Given the description of an element on the screen output the (x, y) to click on. 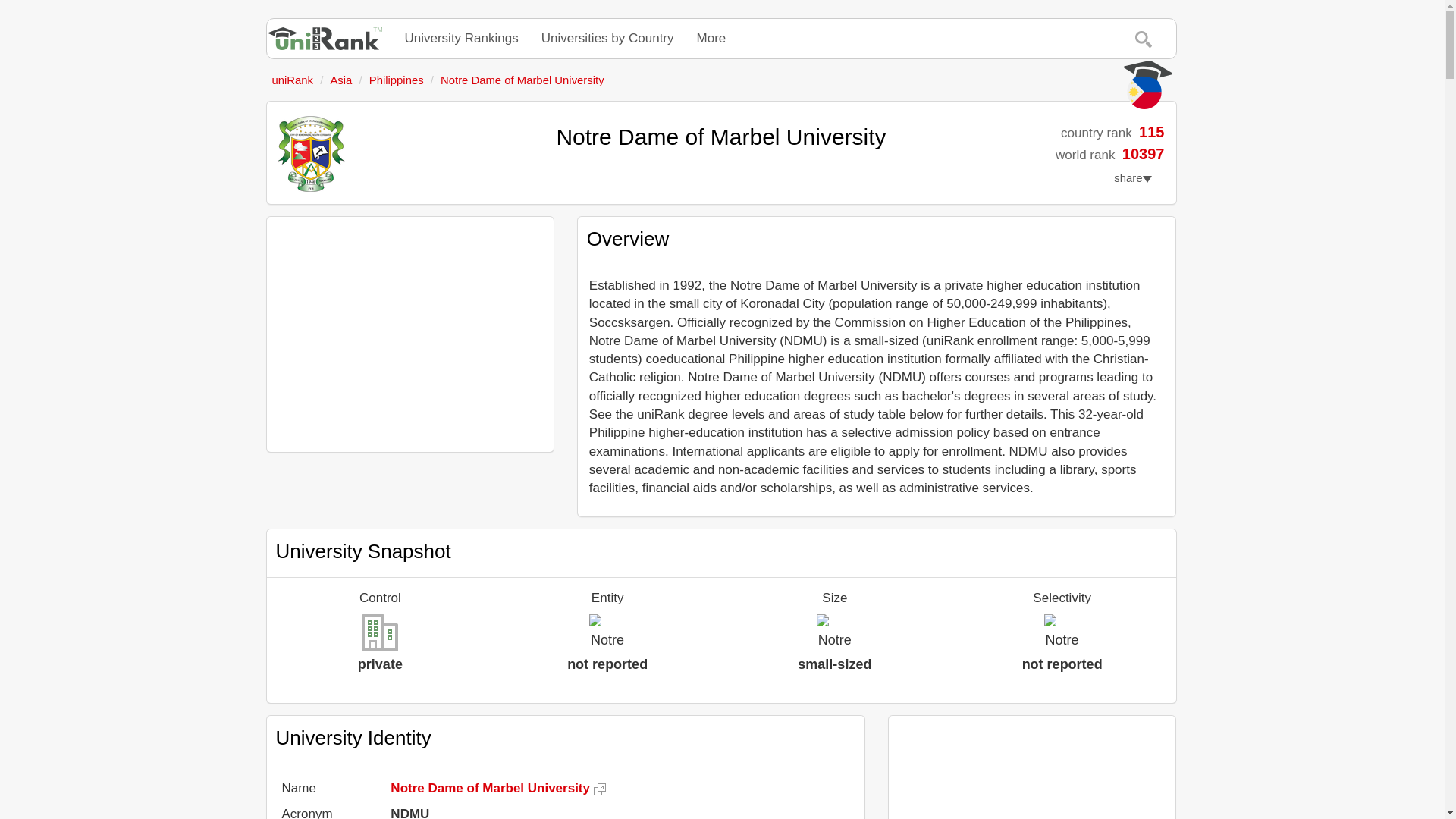
Universities by Country (607, 38)
University Rankings (461, 38)
More (711, 38)
